Given the description of an element on the screen output the (x, y) to click on. 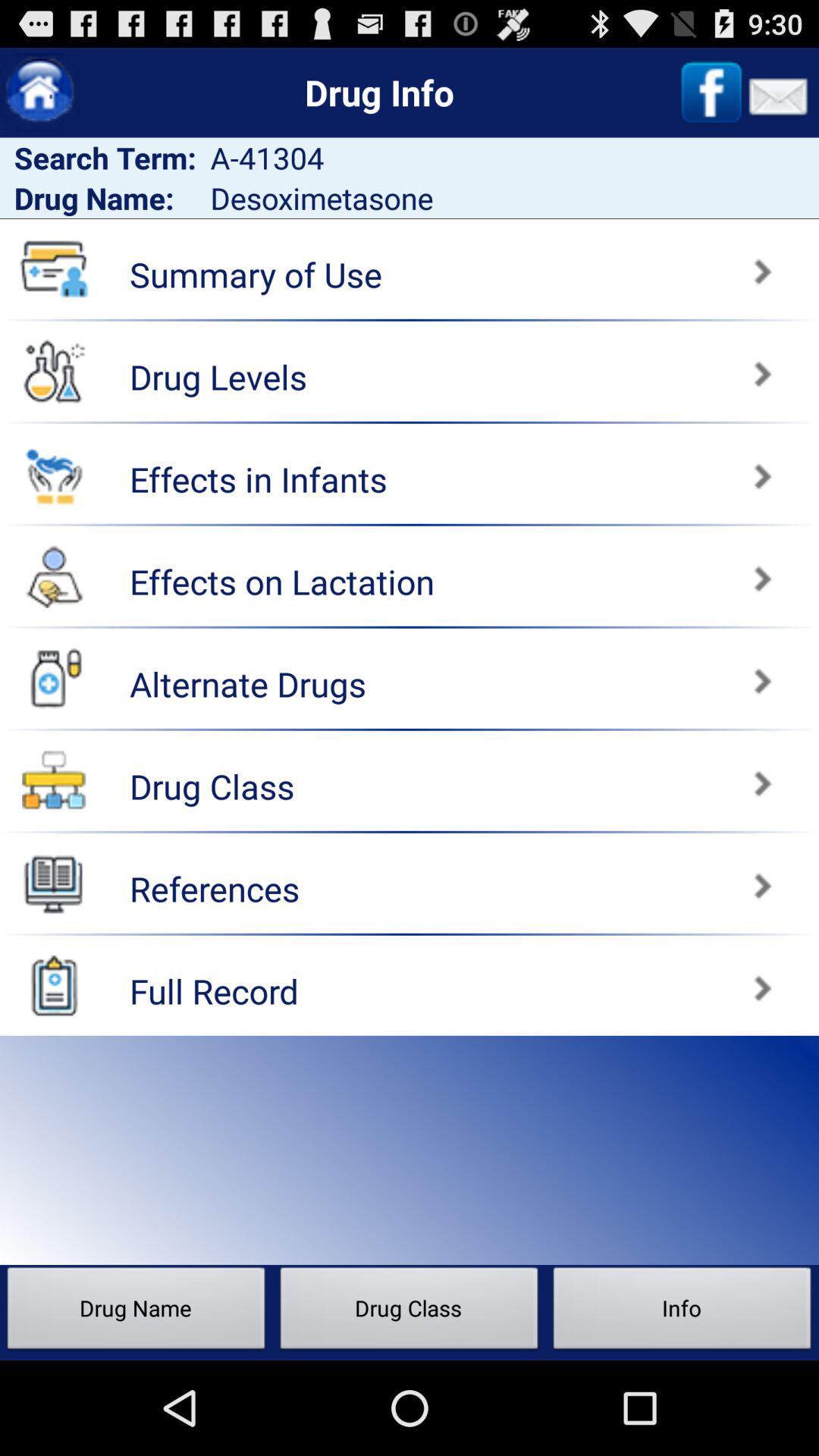
go to their facebook page (711, 92)
